Given the description of an element on the screen output the (x, y) to click on. 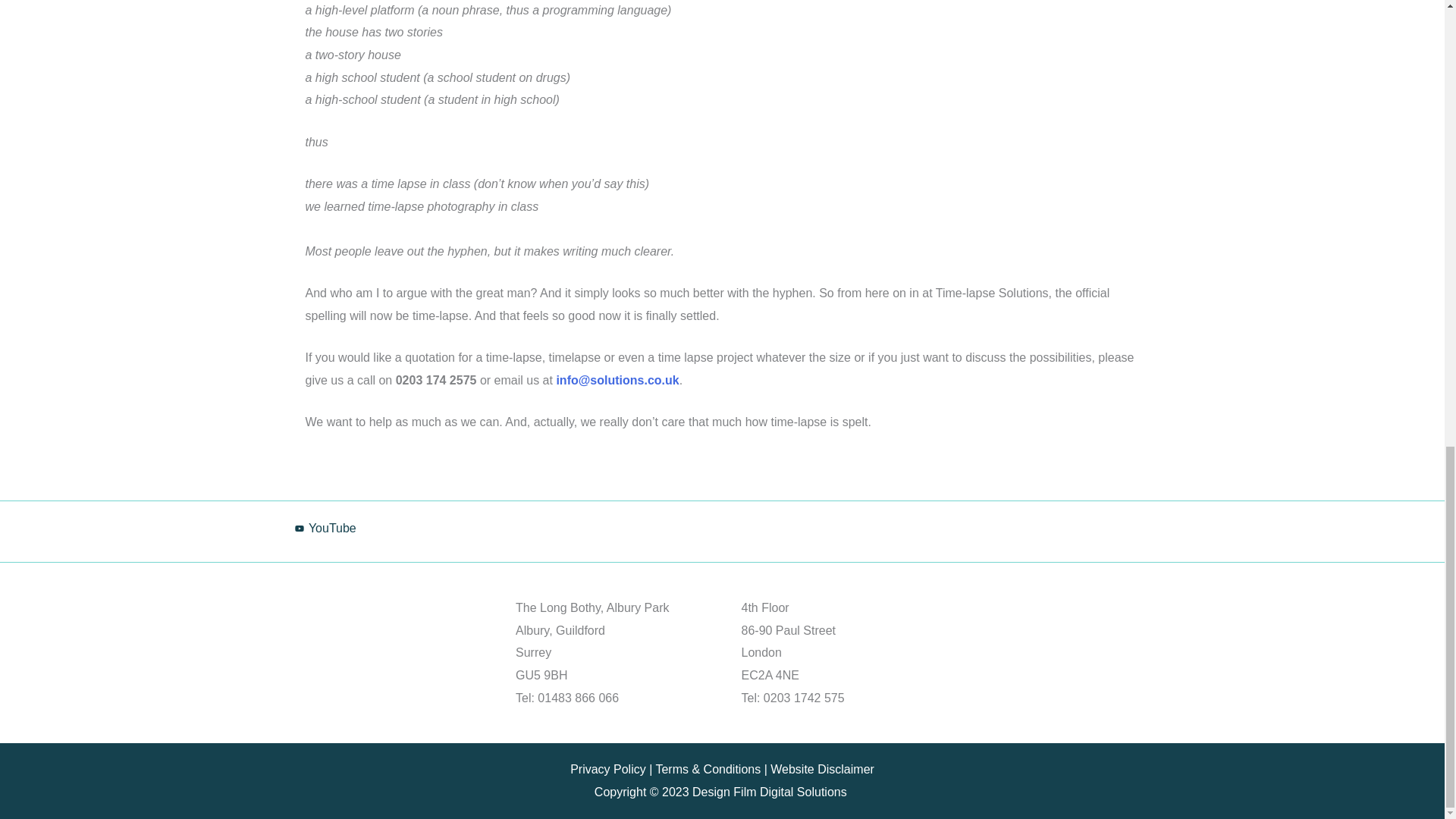
Privacy Policy (608, 768)
Website Disclaimer (822, 768)
YouTube (325, 528)
